Given the description of an element on the screen output the (x, y) to click on. 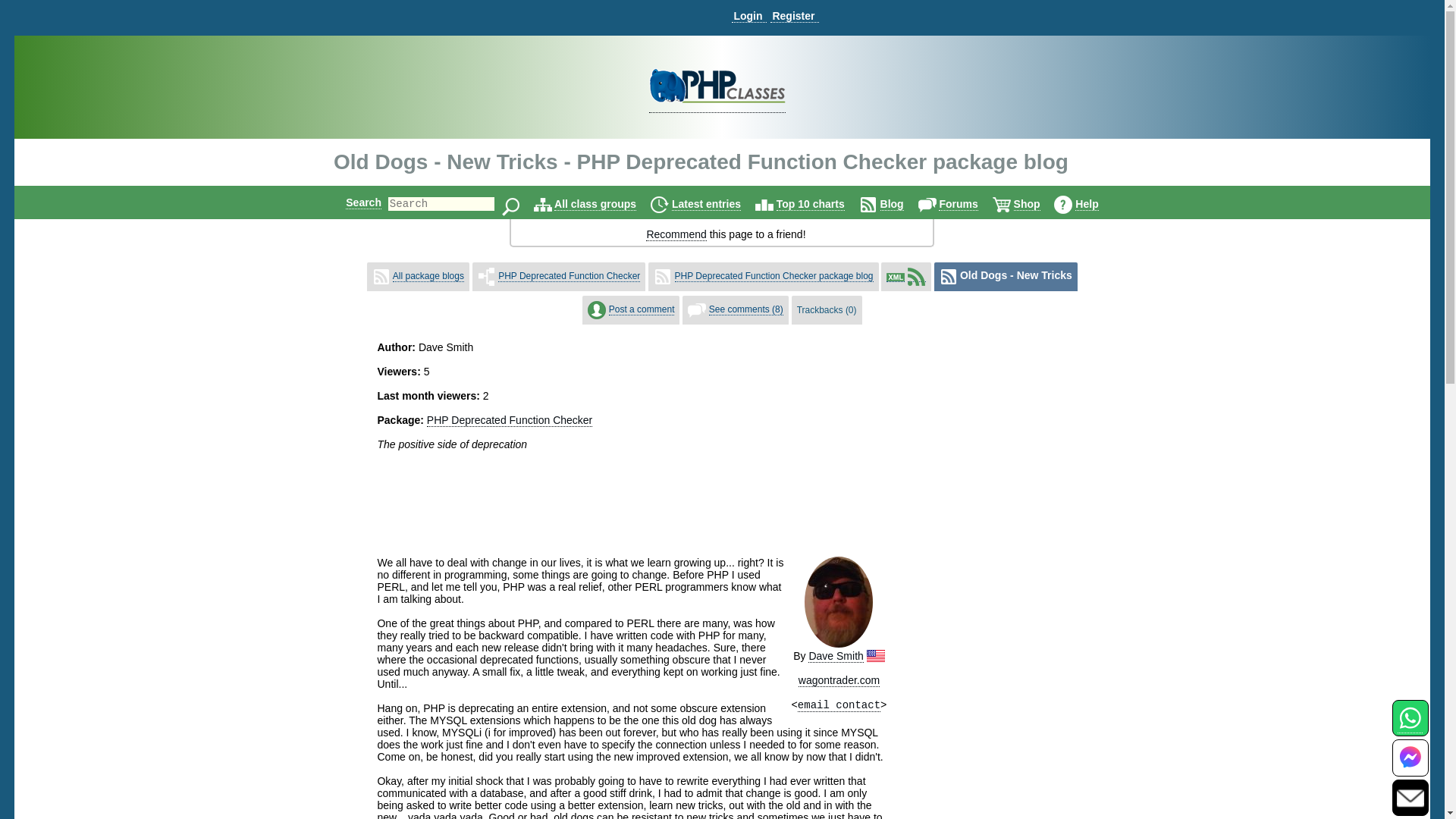
Help (1086, 204)
Blog (892, 204)
Register (794, 15)
Search (363, 201)
Shop (1027, 204)
Forums (957, 204)
Post a comment (641, 309)
United States (875, 655)
Contact us using Messenger (1409, 766)
PHP Deprecated Function Checker package blog (774, 276)
Login (748, 15)
Dave Smith (835, 656)
PHP Deprecated Function Checker (509, 420)
Picture of Dave Smith (838, 601)
Contact us using email (1409, 797)
